Given the description of an element on the screen output the (x, y) to click on. 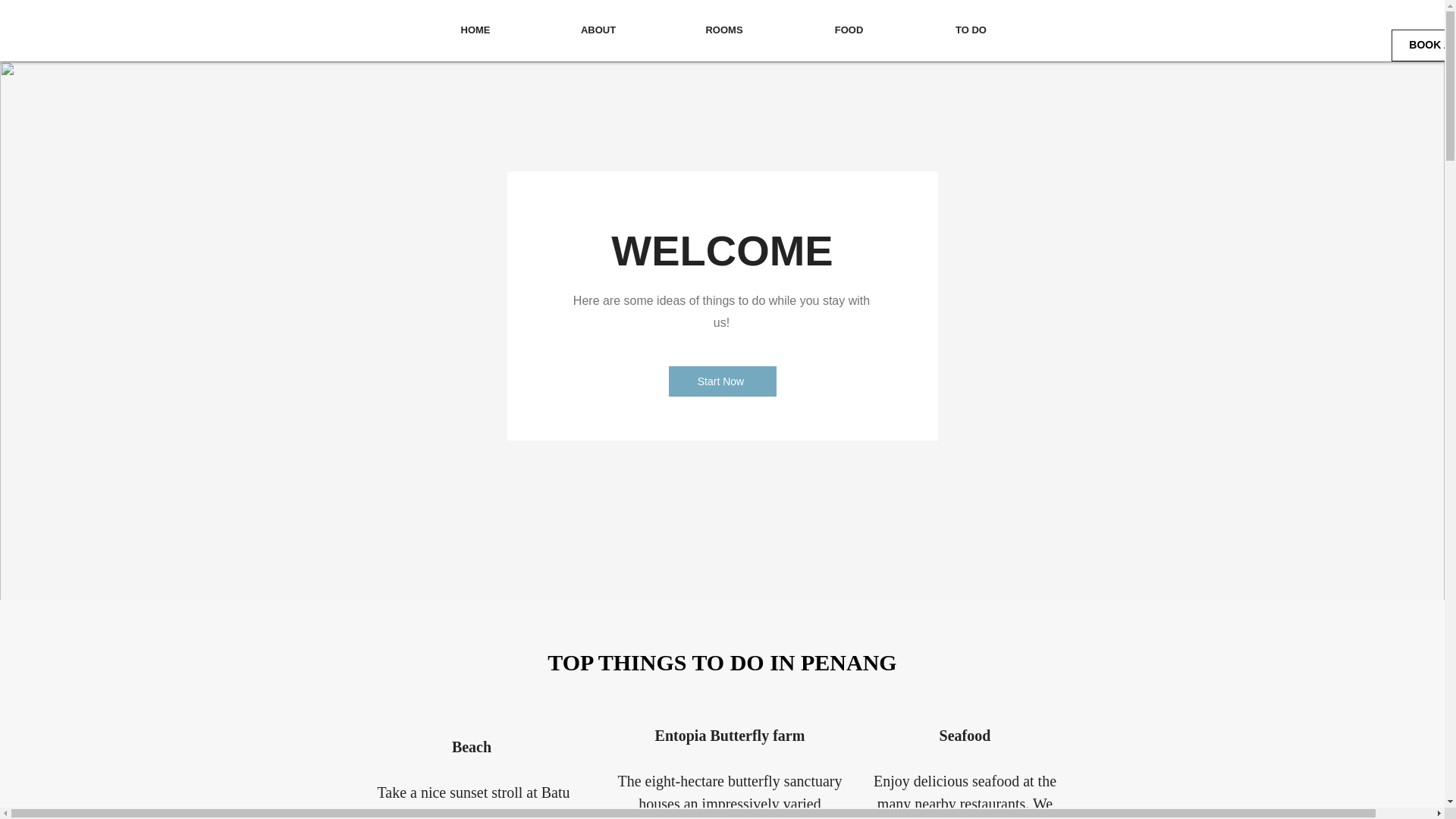
TO DO (971, 29)
FOOD (849, 29)
ROOMS (723, 29)
HOME (474, 29)
Start Now (722, 381)
BOOK A ROOM (1423, 45)
ABOUT (599, 29)
